Given the description of an element on the screen output the (x, y) to click on. 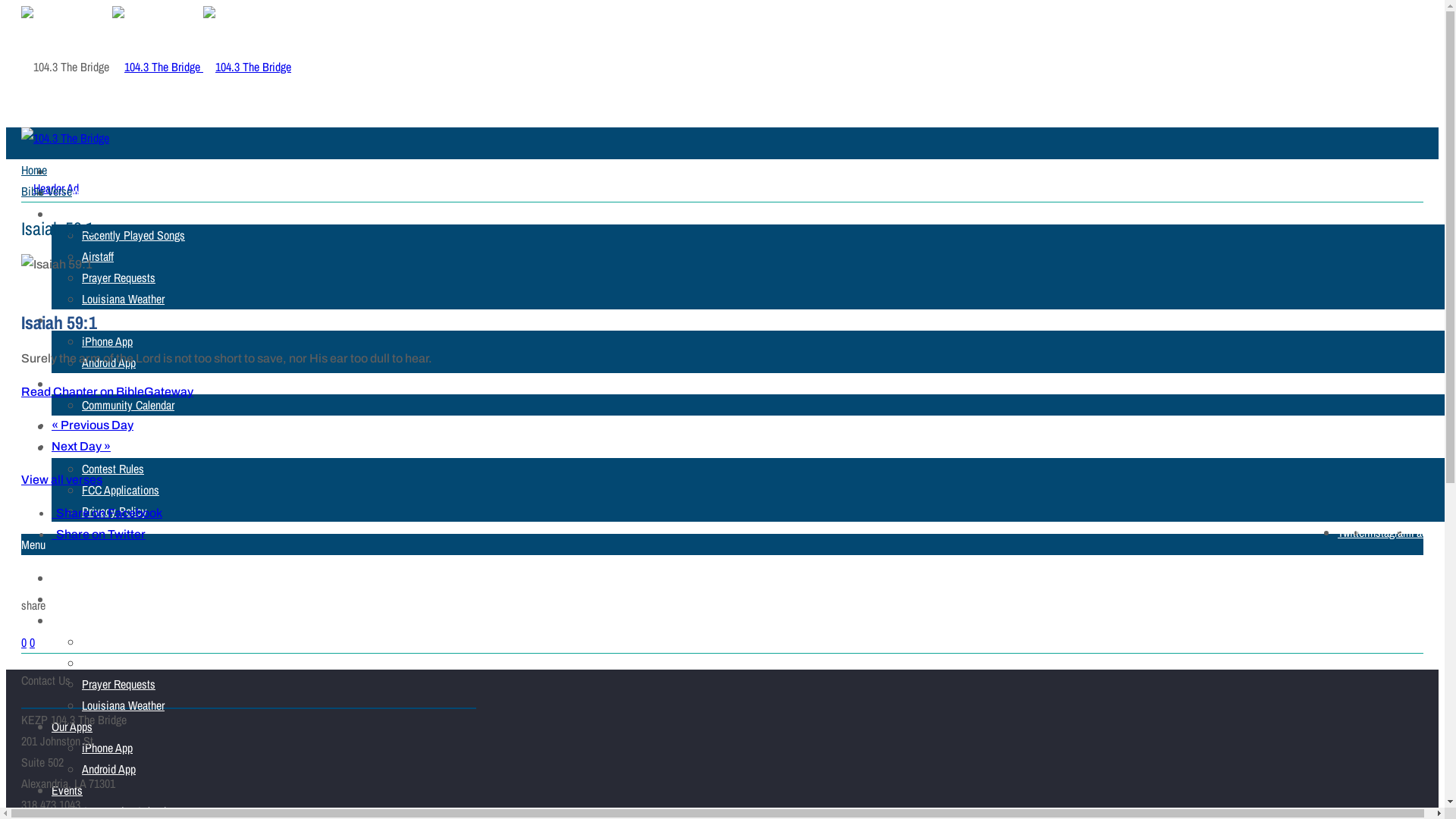
About Us Element type: text (71, 447)
Home Element type: text (64, 171)
Android App Element type: text (108, 362)
Prayer Requests Element type: text (118, 683)
FCC Applications Element type: text (120, 489)
Recently Played Songs Element type: text (133, 641)
Bible Verse Element type: text (46, 190)
  Share on Facebook Element type: text (106, 512)
Listen Live Element type: text (75, 598)
Airstaff Element type: text (97, 255)
View all verses Element type: text (61, 479)
Events Element type: text (66, 383)
0 Element type: text (23, 641)
iPhone App Element type: text (106, 747)
Contests Element type: text (71, 425)
Home Element type: text (64, 577)
On Air Element type: text (65, 619)
Our Apps Element type: text (71, 319)
Read Chapter on BibleGateway Element type: text (107, 391)
Contest Rules Element type: text (112, 468)
Privacy Policy Element type: text (114, 510)
Airstaff Element type: text (97, 662)
Recently Played Songs Element type: text (133, 234)
104.3 The Bridge Element type: hover (201, 66)
On Air Element type: text (65, 213)
iPhone App Element type: text (106, 340)
0 Element type: text (31, 641)
Events Element type: text (66, 789)
Louisiana Weather Element type: text (122, 704)
Community Calendar Element type: text (127, 404)
Louisiana Weather Element type: text (122, 298)
Android App Element type: text (108, 768)
Instagram Element type: text (1389, 532)
Our Apps Element type: text (71, 726)
Prayer Requests Element type: text (118, 277)
Twitter Element type: text (1352, 532)
Listen Live Element type: text (75, 192)
Facebook Element type: text (1432, 532)
Home Element type: text (34, 169)
  Share on Twitter Element type: text (98, 533)
